Given the description of an element on the screen output the (x, y) to click on. 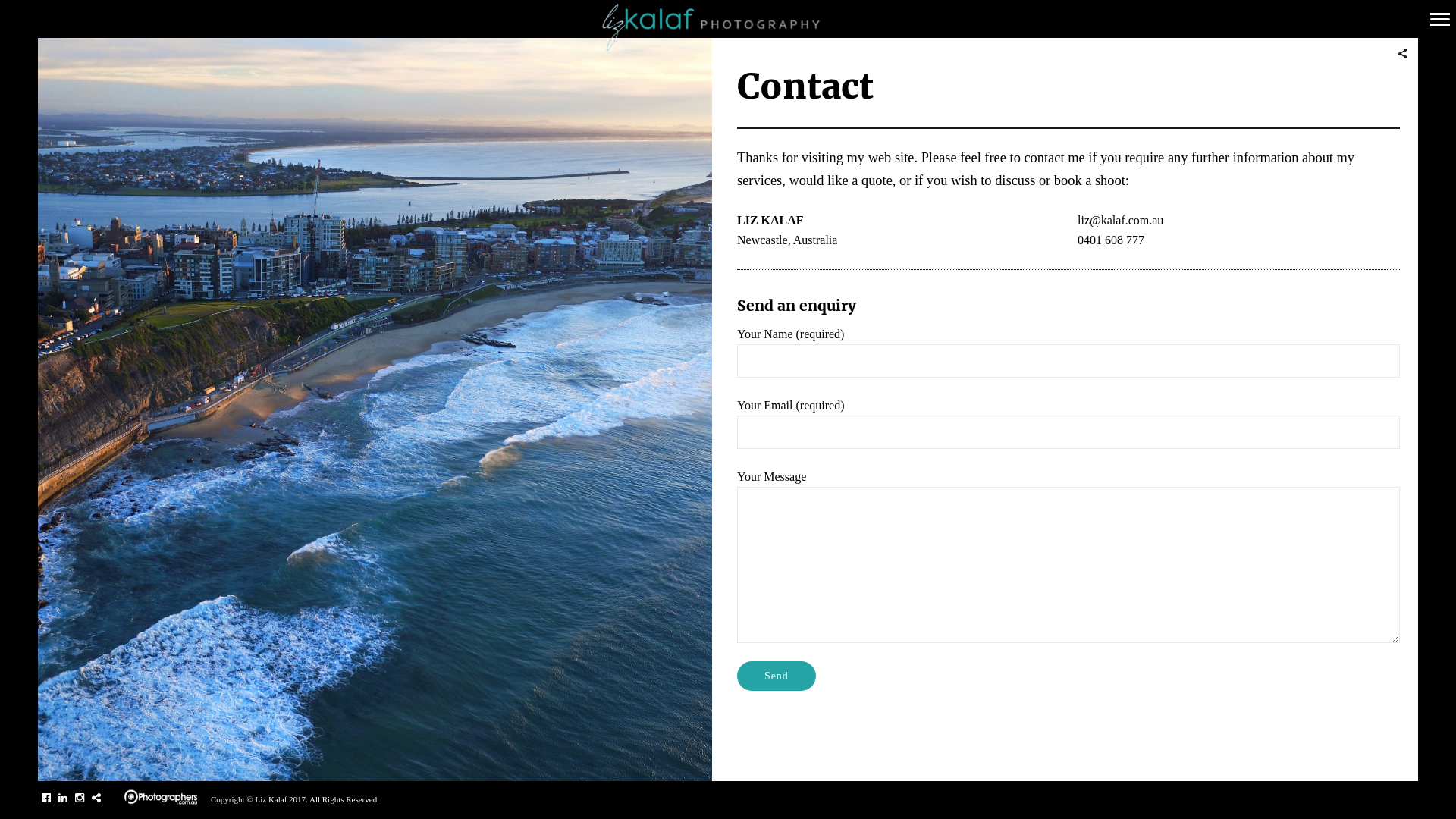
Houzz Element type: text (95, 798)
Send Element type: text (776, 675)
Instagram Element type: text (79, 798)
Liz Kalaf - Newcastle Photographer Element type: hover (728, 27)
Facebook Element type: text (45, 798)
LinkedIn Element type: text (62, 798)
